Given the description of an element on the screen output the (x, y) to click on. 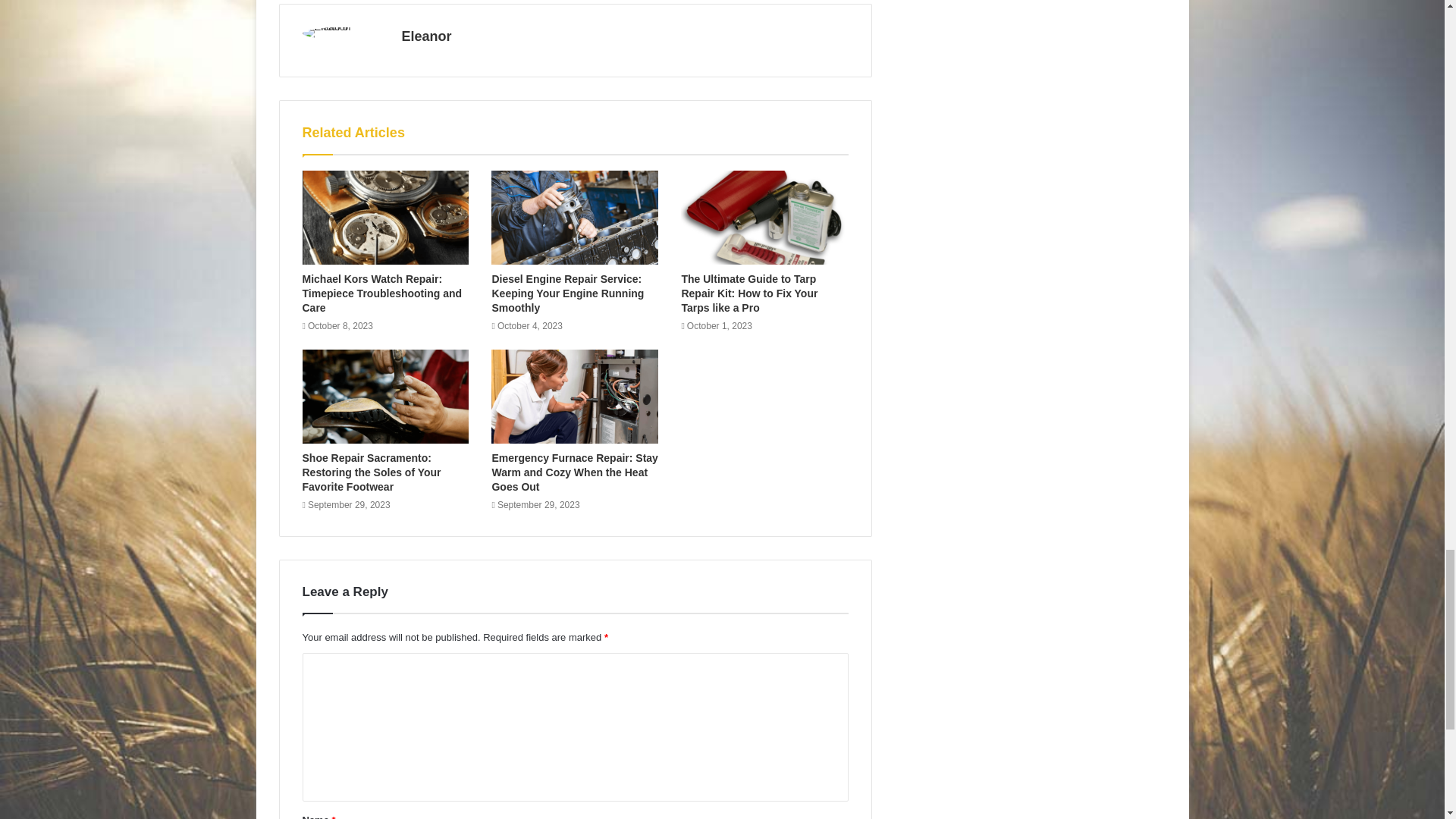
Eleanor (426, 36)
